Given the description of an element on the screen output the (x, y) to click on. 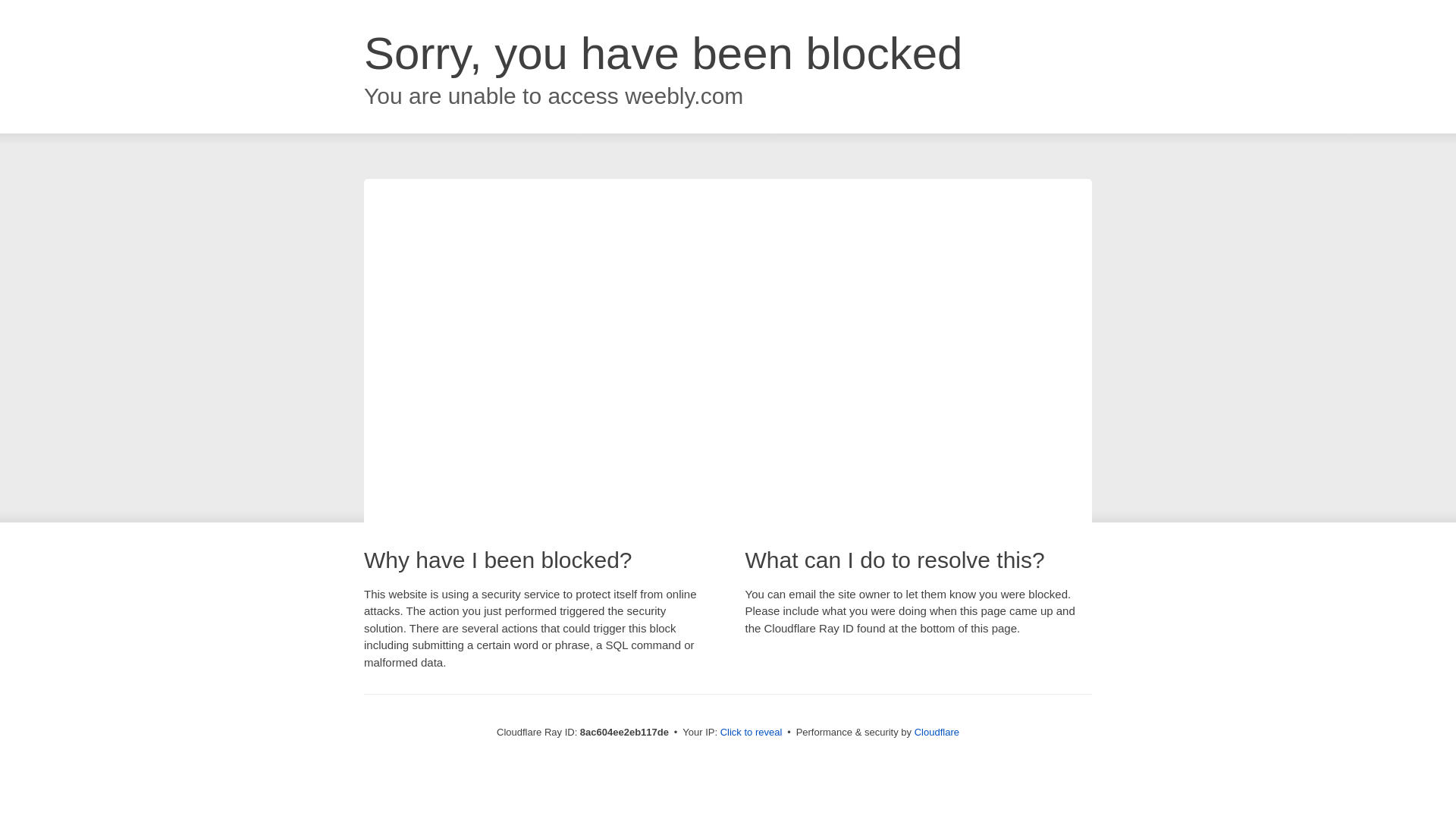
Click to reveal (751, 732)
Cloudflare (936, 731)
